Given the description of an element on the screen output the (x, y) to click on. 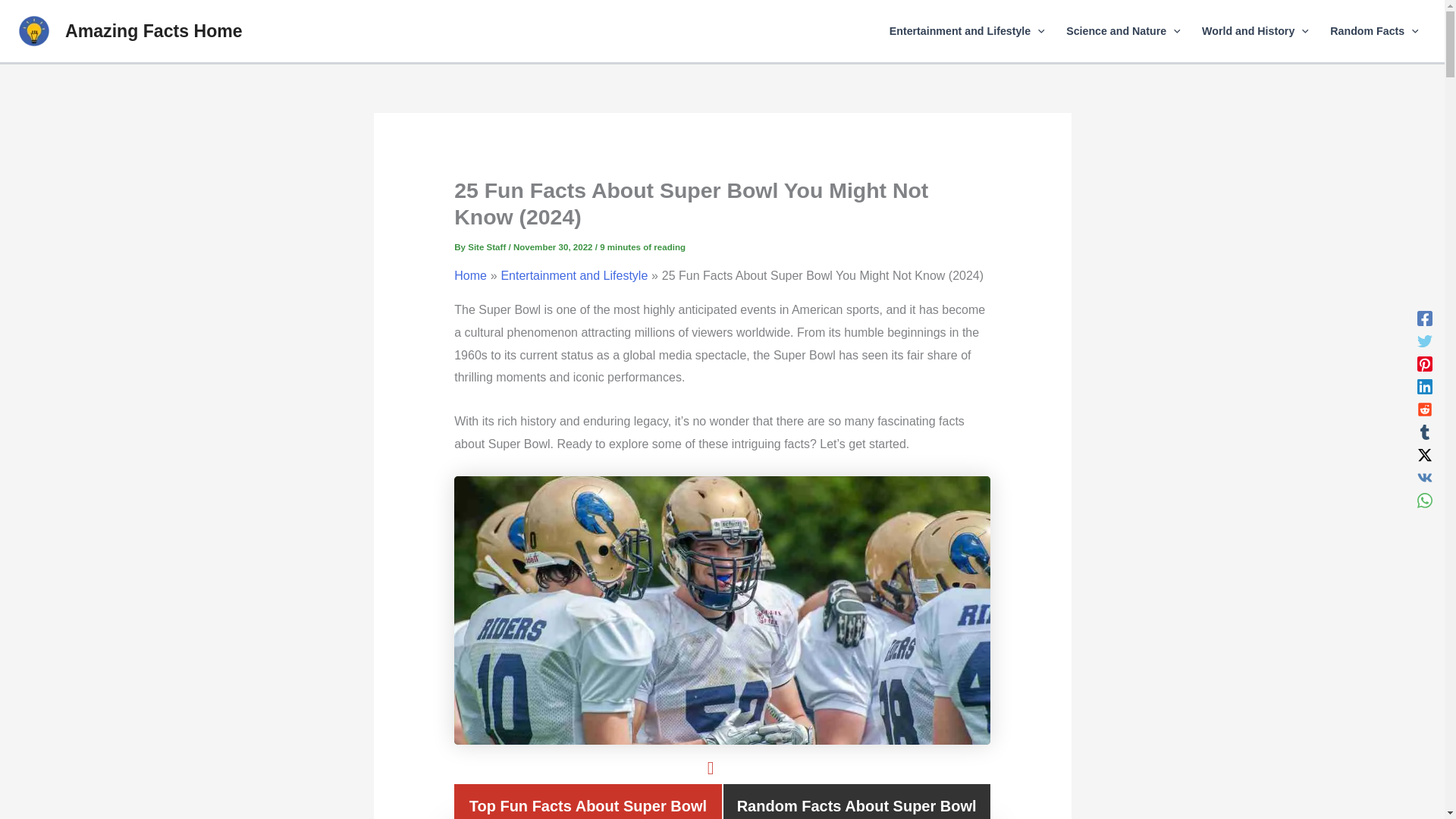
World and History (1255, 30)
Science and Nature (1123, 30)
View all posts by Site Staff (487, 246)
Amazing Facts Home (154, 30)
Random Facts (1374, 30)
Entertainment and Lifestyle (967, 30)
